Given the description of an element on the screen output the (x, y) to click on. 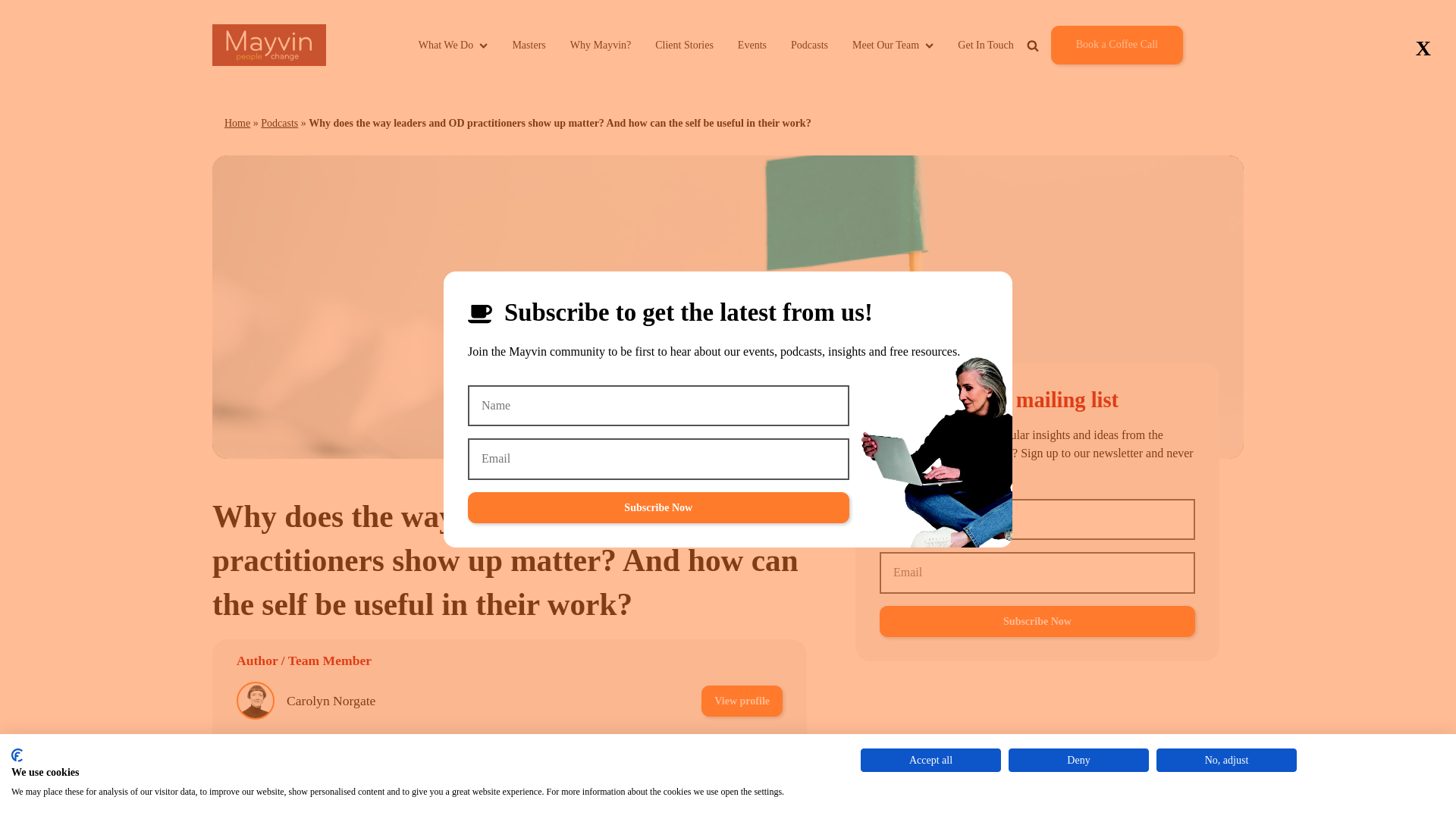
Book a Coffee Call (1116, 44)
Martin Saville (324, 753)
Accept all (930, 760)
Carolyn Norgate (330, 700)
Why Mayvin? (600, 45)
Masters (528, 45)
Podcasts (809, 45)
Get In Touch (985, 45)
X (1423, 48)
Podcast (642, 805)
Subscribe Now (657, 507)
View profile (742, 753)
View profile (742, 700)
Meet Our Team (892, 45)
Search (1078, 80)
